Given the description of an element on the screen output the (x, y) to click on. 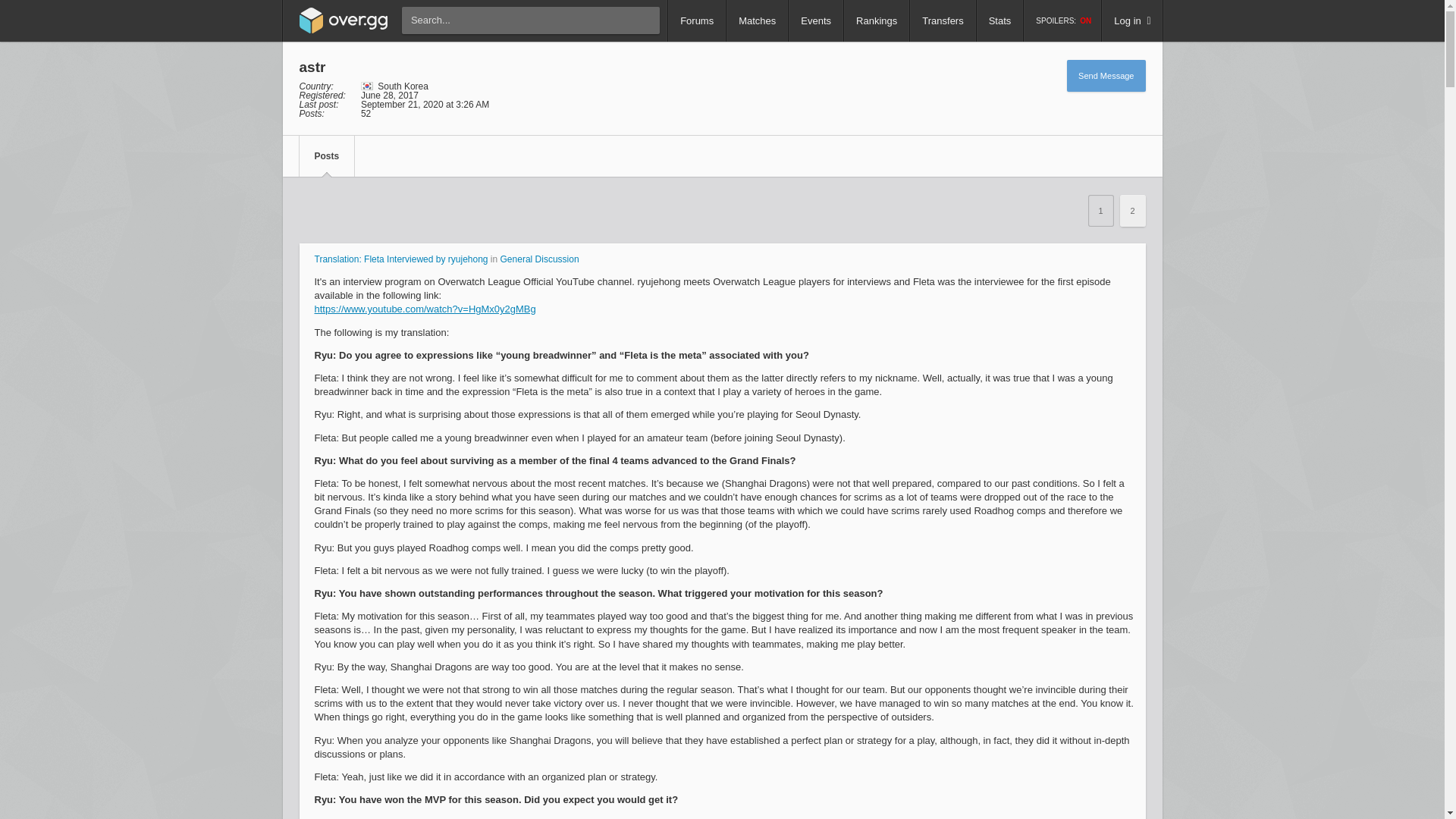
General Discussion (539, 258)
Matches (756, 20)
Events (816, 20)
Stats (999, 20)
Rankings (876, 20)
Send Message (1105, 75)
Log in (1131, 20)
Posts (326, 155)
Forums (696, 20)
Translation: Fleta Interviewed by ryujehong (400, 258)
